Given the description of an element on the screen output the (x, y) to click on. 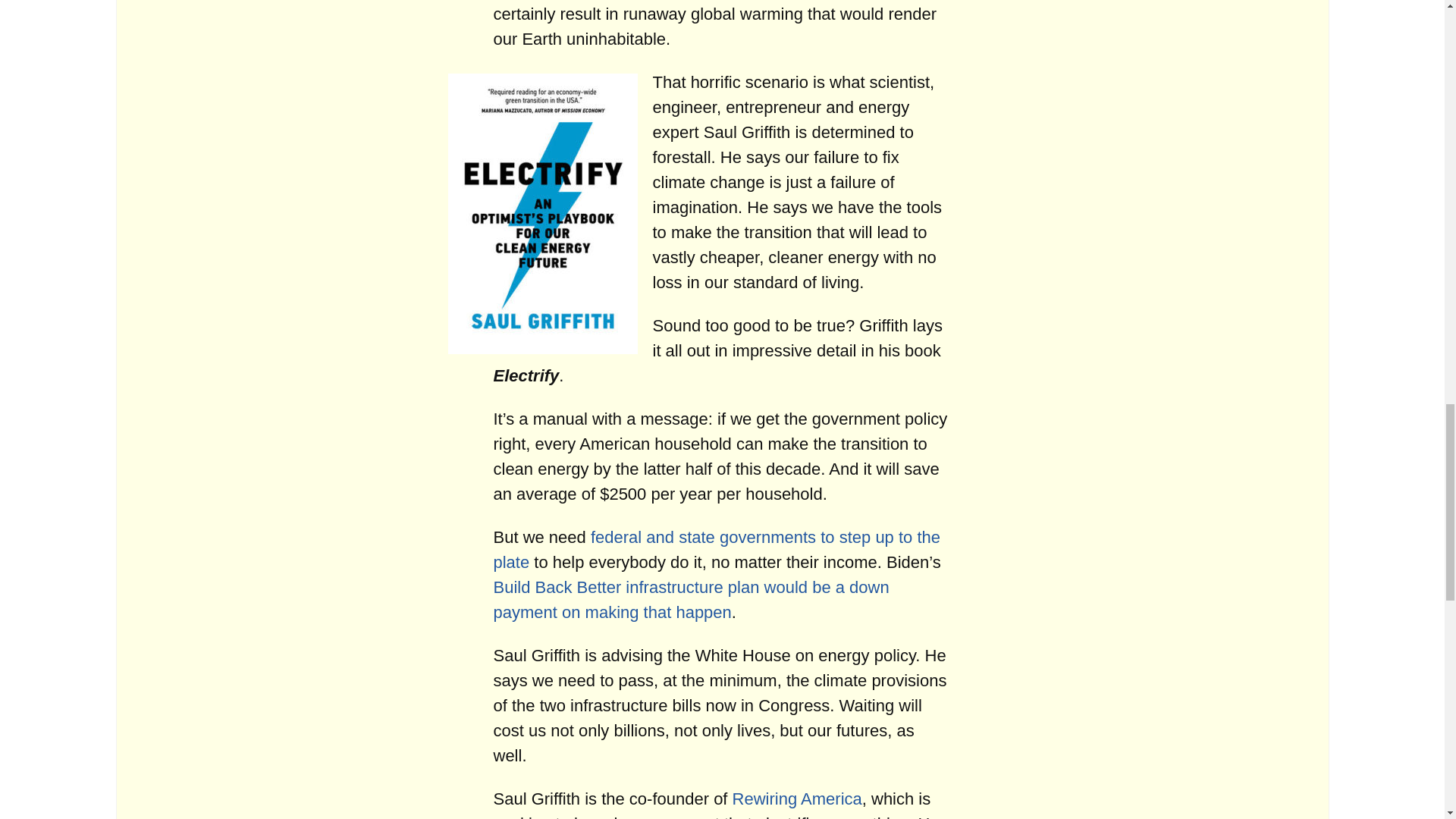
Rewiring America (796, 798)
federal and state governments to step up to the plate (716, 549)
